Given the description of an element on the screen output the (x, y) to click on. 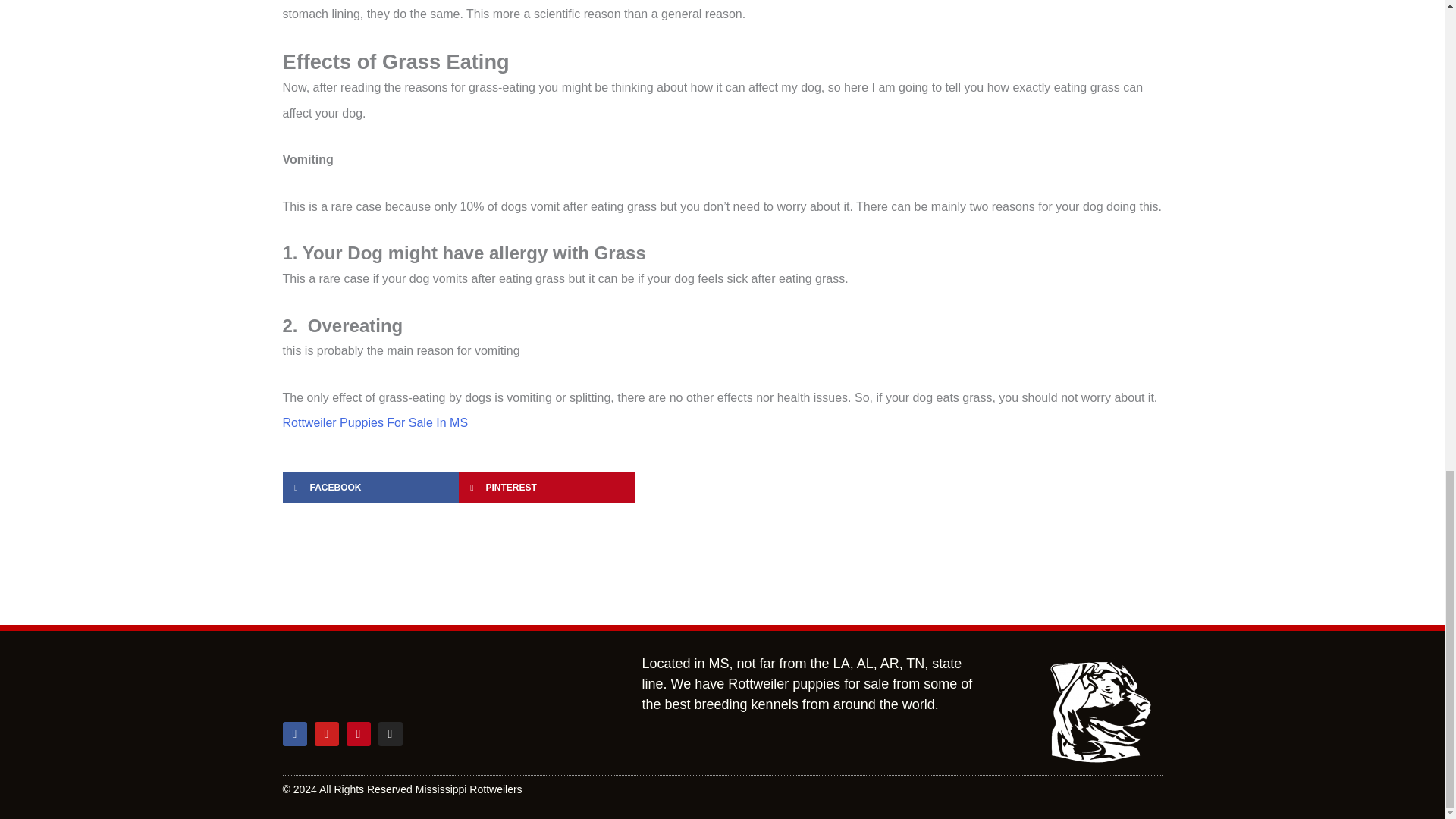
Rottweiler Puppies For Sale In MS (374, 422)
